Given the description of an element on the screen output the (x, y) to click on. 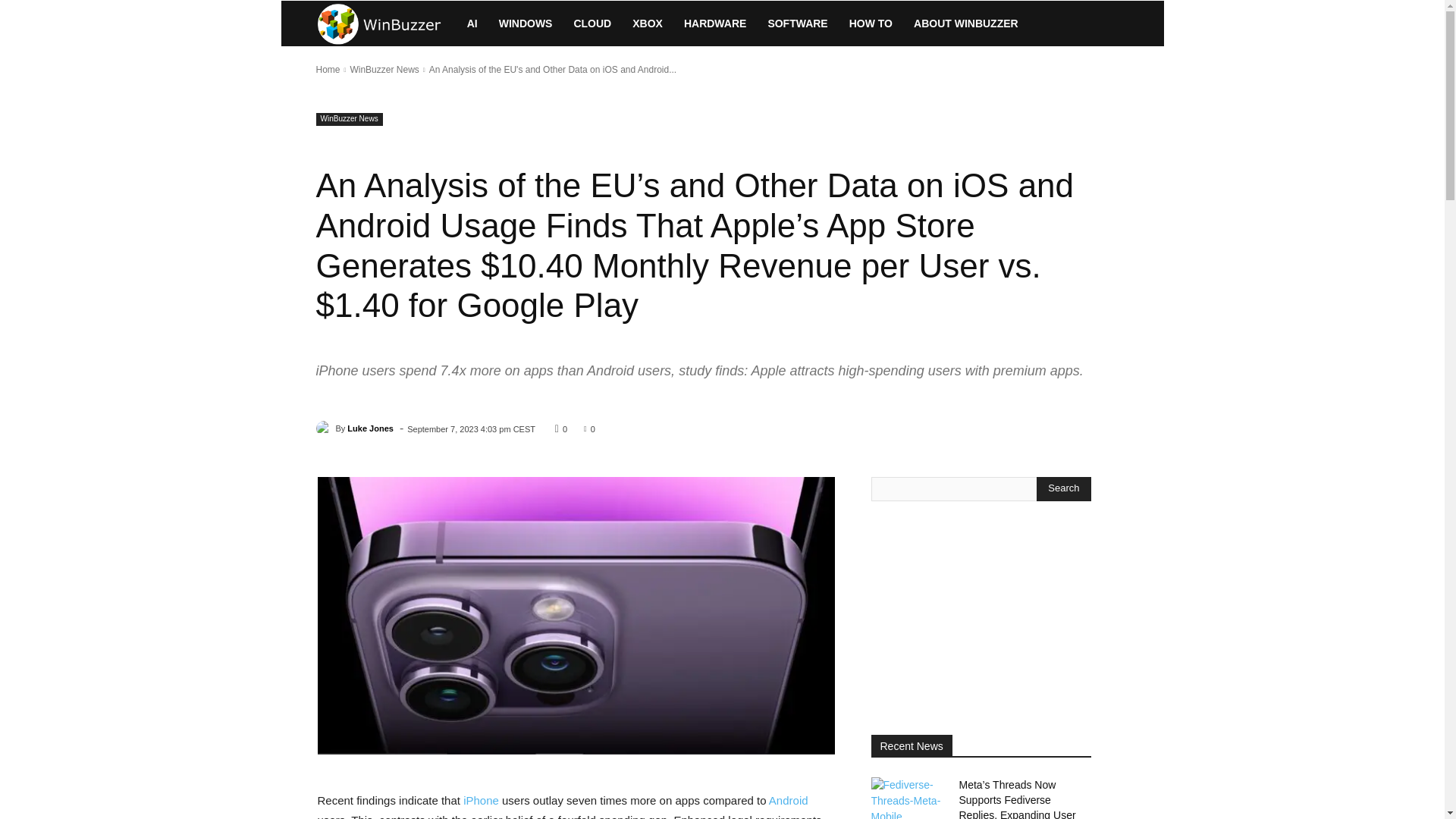
Luke Jones (324, 427)
View all posts in WinBuzzer News (384, 69)
Search (1063, 488)
